Given the description of an element on the screen output the (x, y) to click on. 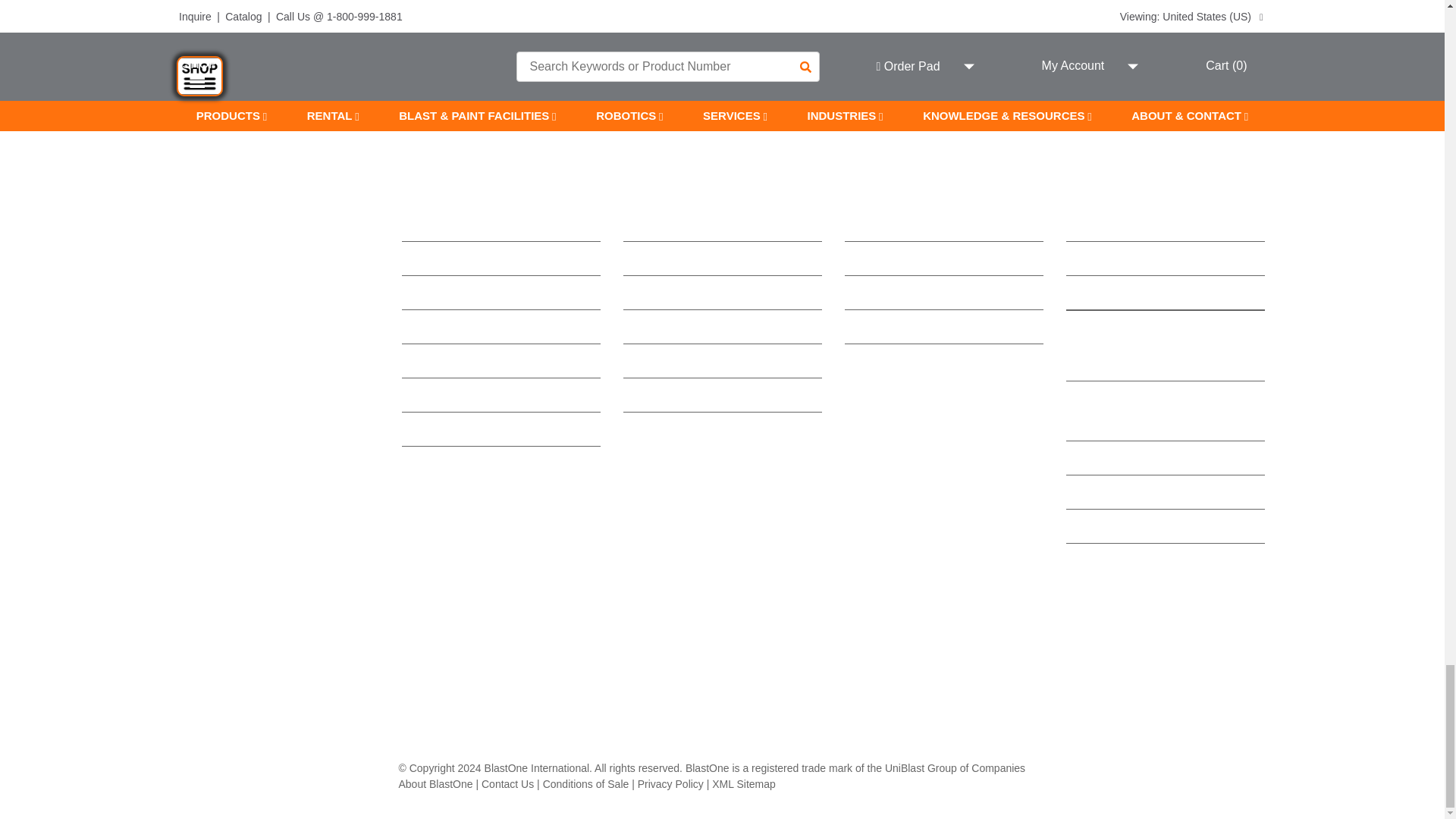
Online form (1167, 12)
Live chat (275, 12)
Phone (870, 12)
Email (572, 12)
